Given the description of an element on the screen output the (x, y) to click on. 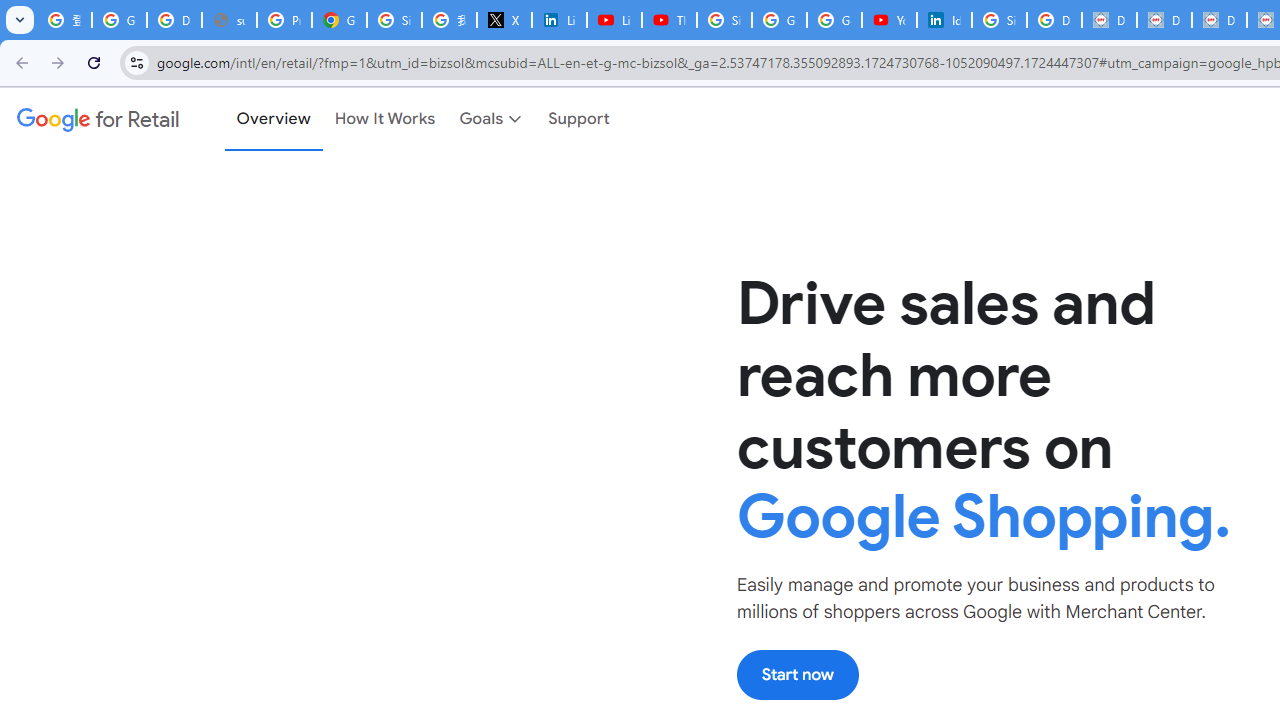
Goals (491, 119)
Data Privacy Framework (1218, 20)
Privacy Help Center - Policies Help (284, 20)
LinkedIn Privacy Policy (559, 20)
LinkedIn - YouTube (614, 20)
How It Works (385, 119)
Identity verification via Persona | LinkedIn Help (943, 20)
Support (579, 119)
